Given the description of an element on the screen output the (x, y) to click on. 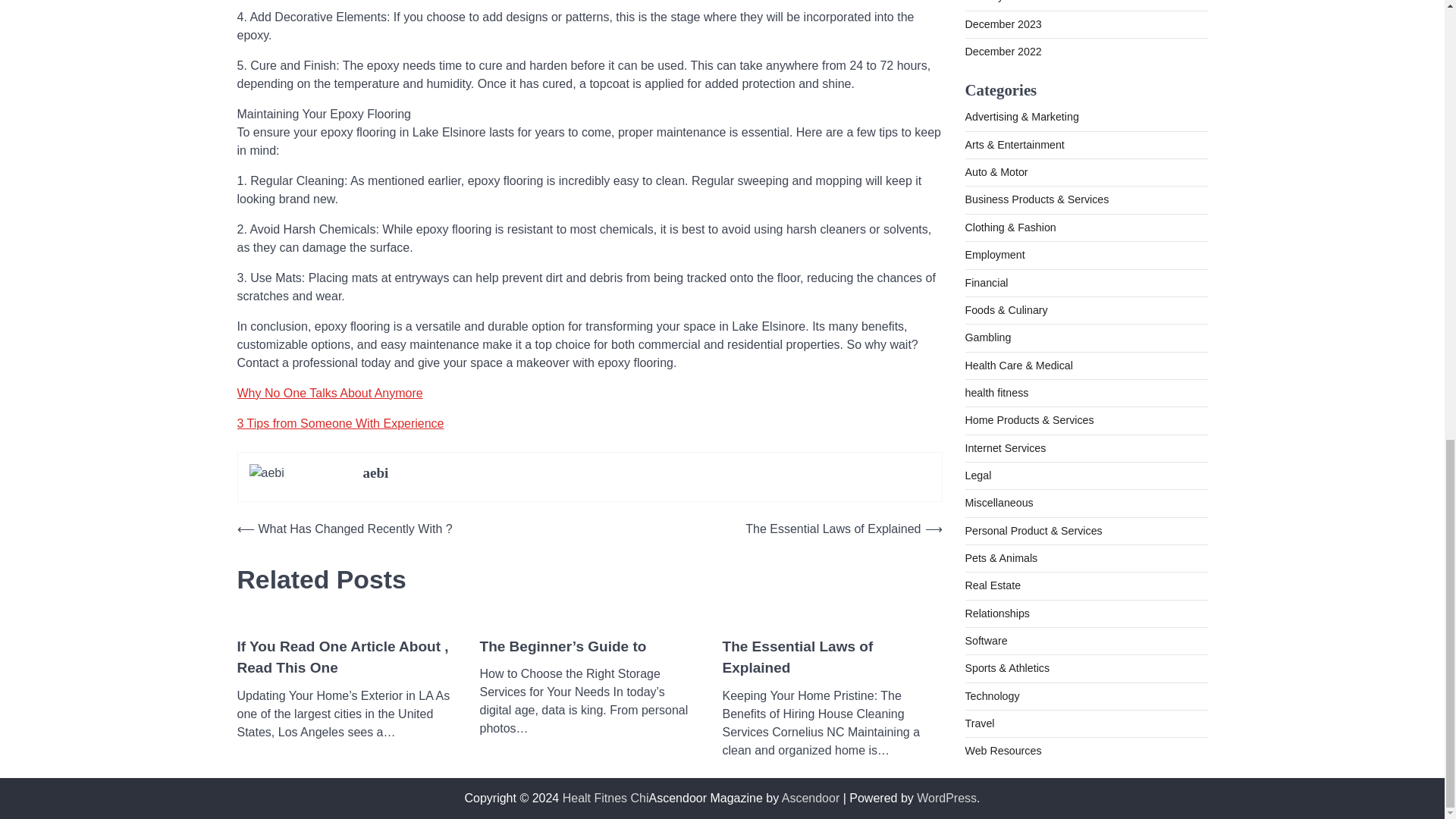
The Essential Laws of Explained (832, 657)
3 Tips from Someone With Experience (339, 422)
If You Read One Article About , Read This One (346, 657)
Financial (985, 26)
Employment (994, 2)
Why No One Talks About Anymore (328, 392)
